Given the description of an element on the screen output the (x, y) to click on. 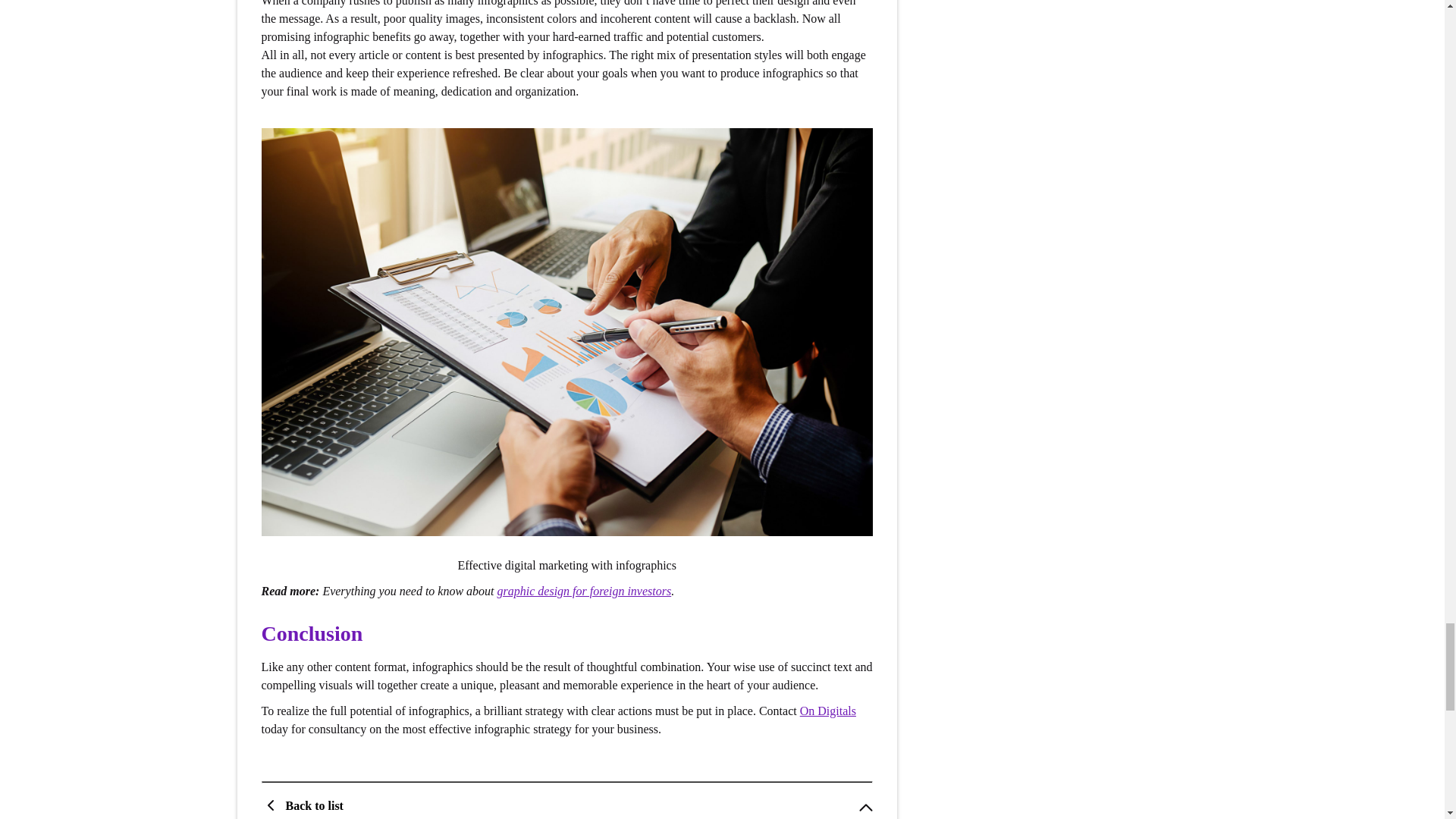
On Digitals (827, 710)
graphic design for foreign investors (584, 590)
Back to list (304, 804)
